Given the description of an element on the screen output the (x, y) to click on. 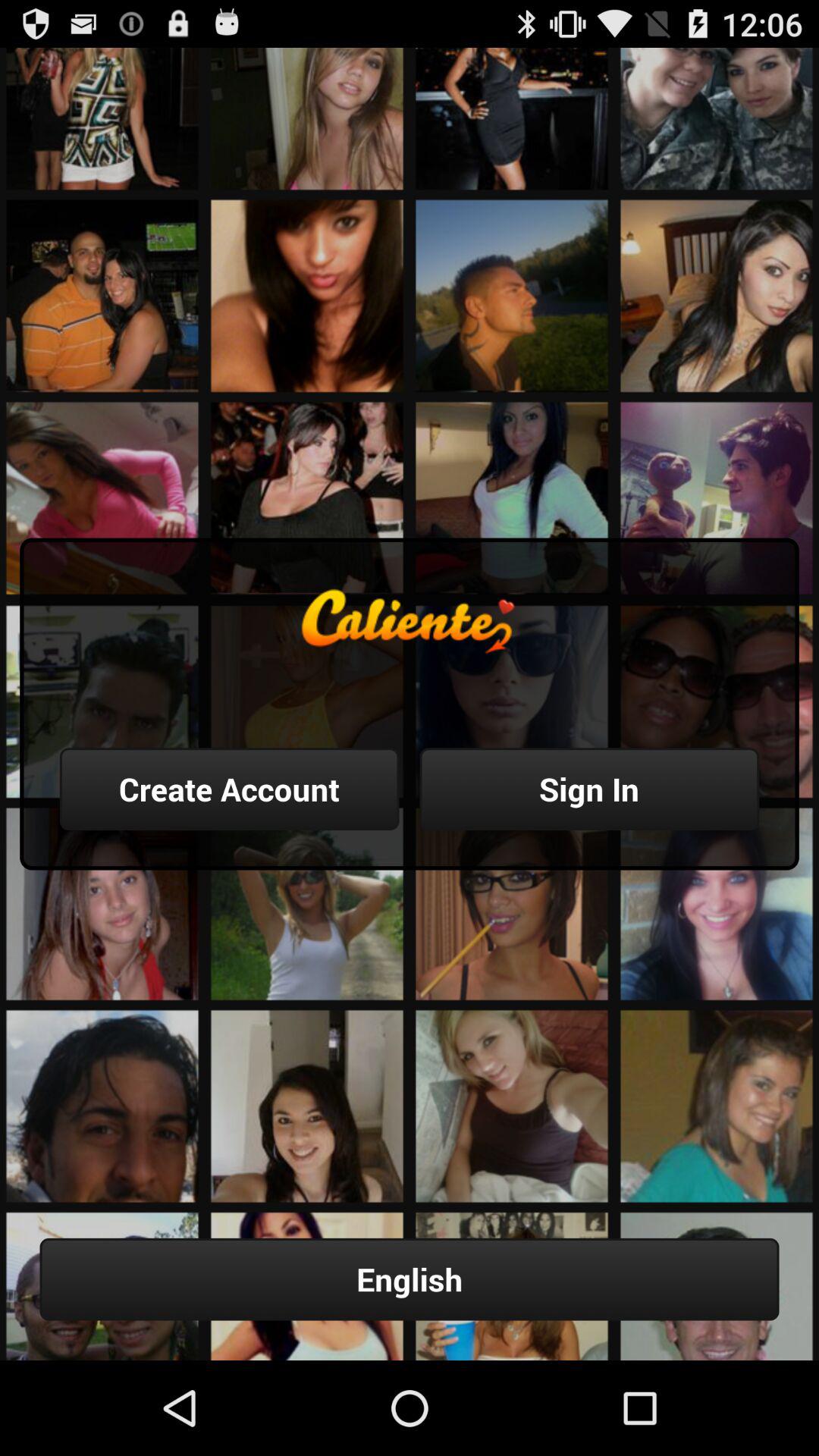
tap the button next to create account item (589, 788)
